Given the description of an element on the screen output the (x, y) to click on. 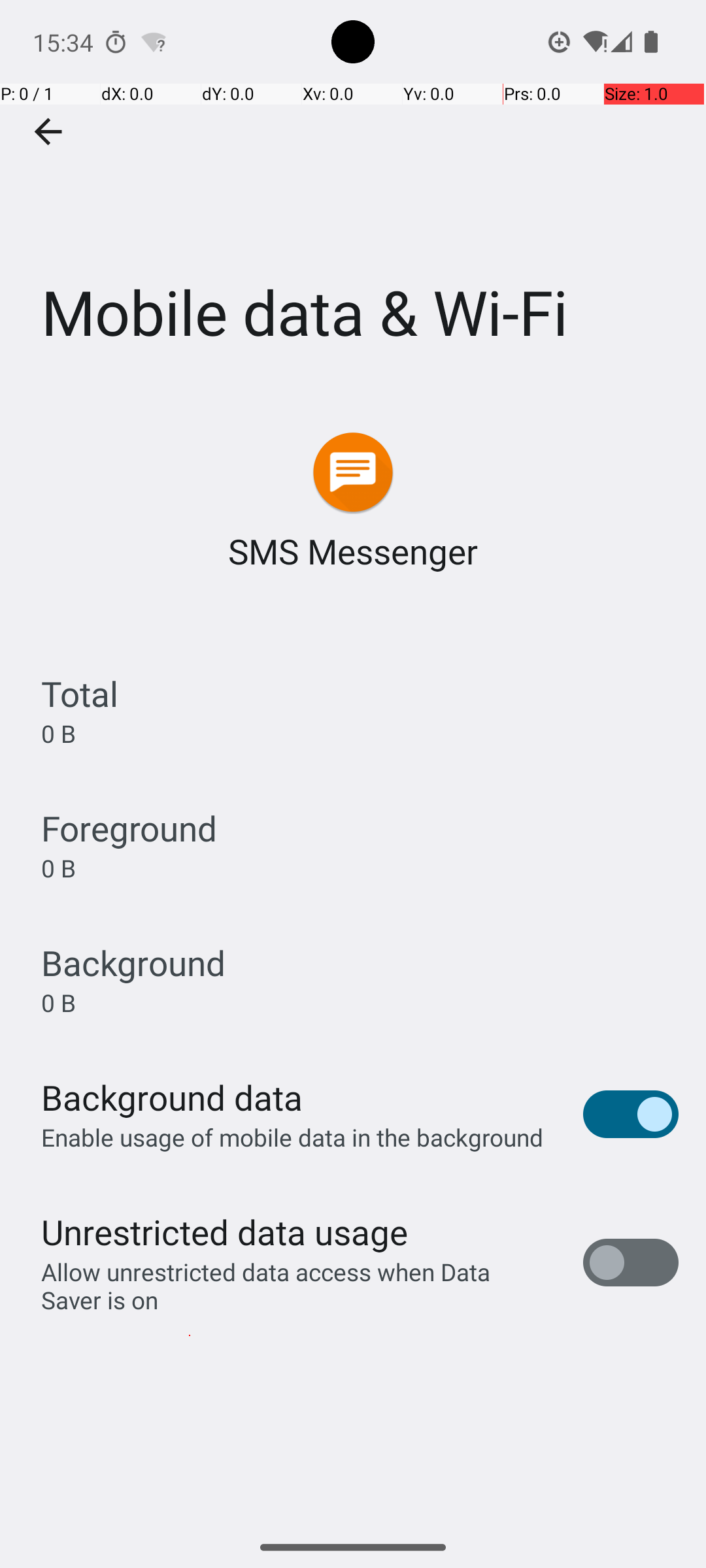
Unrestricted data usage Element type: android.widget.TextView (224, 1231)
Allow unrestricted data access when Data Saver is on Element type: android.widget.TextView (298, 1285)
